Given the description of an element on the screen output the (x, y) to click on. 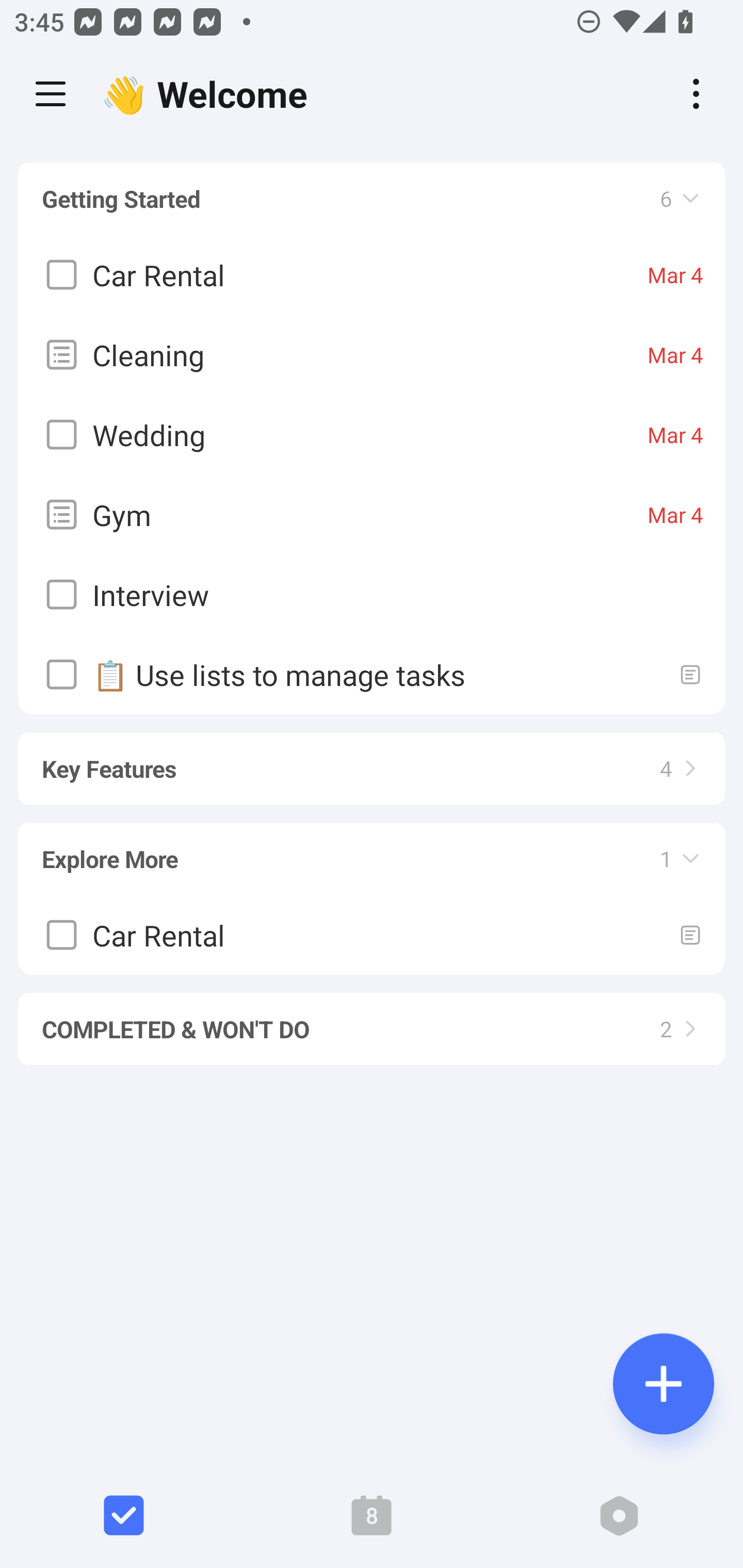
👋 Welcome (209, 93)
Getting Started 6 (371, 199)
Car Rental Mar 4 (371, 275)
Mar 4 (675, 275)
Cleaning Mar 4 (371, 355)
Mar 4 (675, 355)
Wedding Mar 4 (371, 435)
Mar 4 (675, 435)
Gym Mar 4 (371, 515)
Mar 4 (675, 514)
Interview (371, 595)
📋 Use lists to manage tasks (371, 675)
Key Features 4 (371, 759)
Explore More 1 (371, 849)
Car Rental (371, 935)
COMPLETED & WON'T DO 2 (371, 1019)
